Given the description of an element on the screen output the (x, y) to click on. 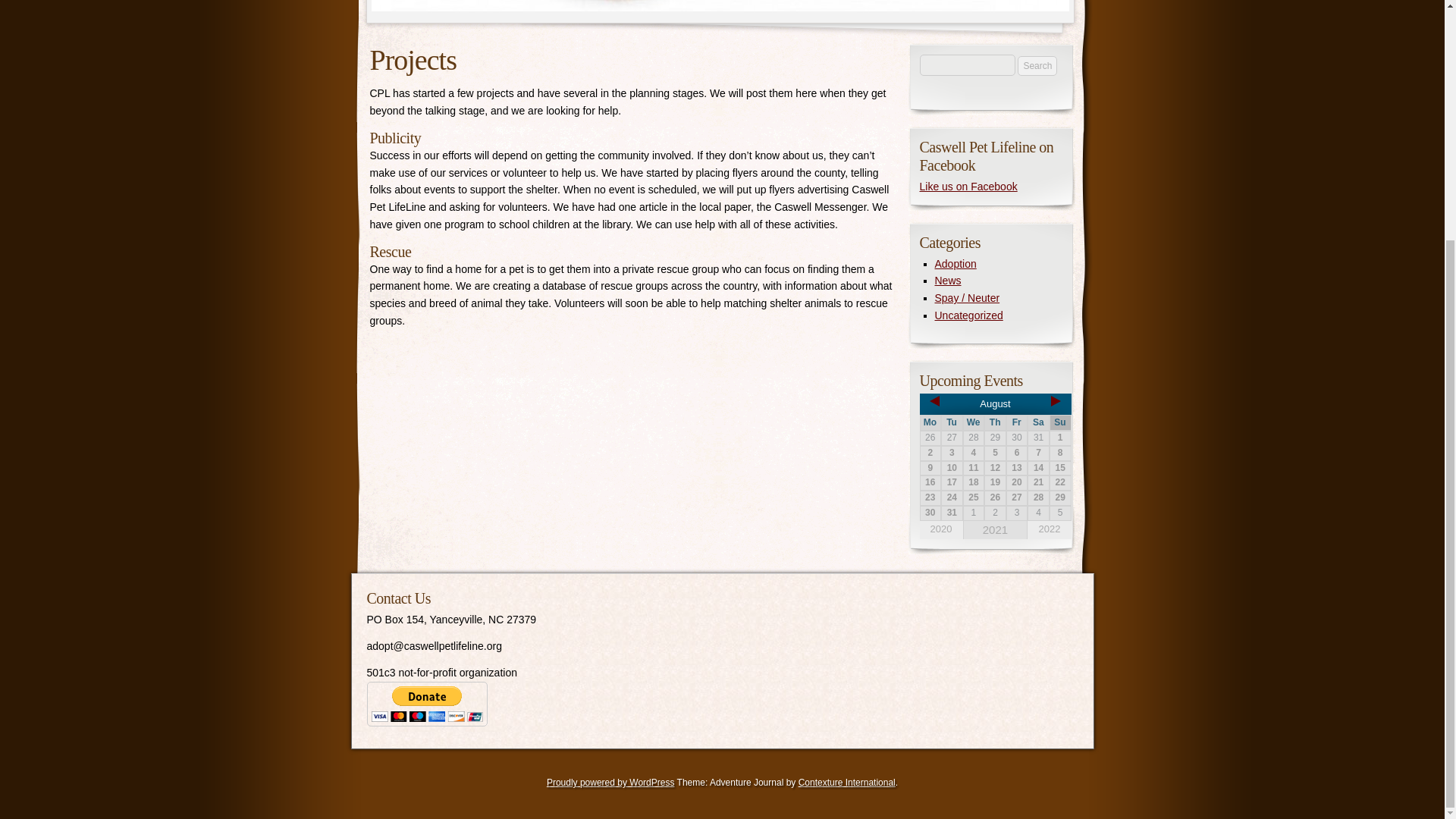
PayPal - The safer, easier way to pay online! (426, 703)
Search (1037, 66)
Proudly powered by WordPress (611, 782)
Adoption (954, 263)
Search (1037, 66)
Contexture International (846, 782)
Like us on Facebook (967, 186)
News (947, 280)
Uncategorized (968, 315)
